Given the description of an element on the screen output the (x, y) to click on. 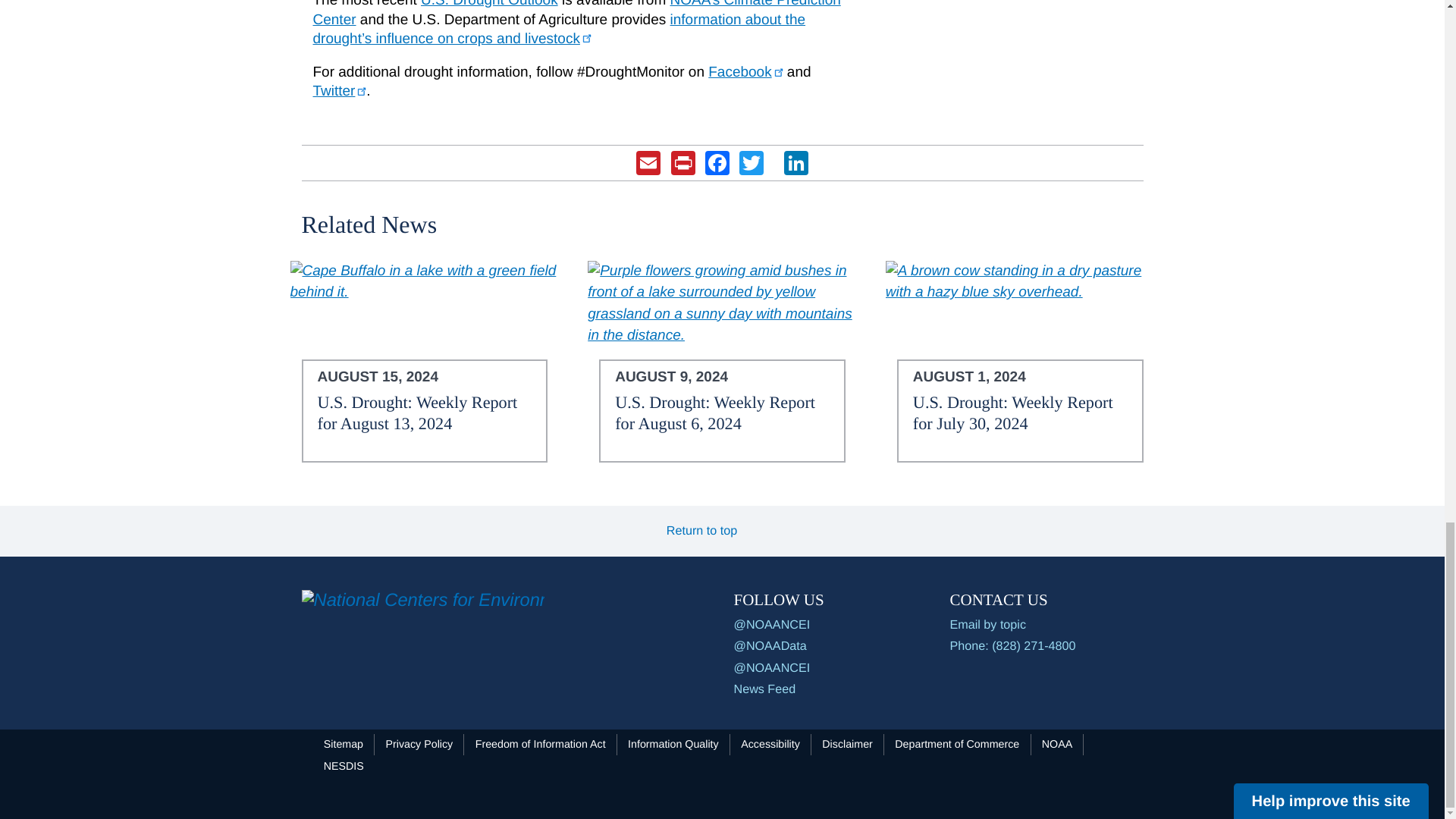
Cape Buffalo in a lake with a green field behind it. (424, 282)
Home (422, 600)
U.S. Drought Outlook (488, 4)
National Centers for Environmental Information logo (422, 600)
Call NCEI NOAA 828-271-4800 (1045, 646)
Contact NCEI NOAA via email (1045, 625)
Link to subscribe to NCEI News Feed (772, 689)
